Given the description of an element on the screen output the (x, y) to click on. 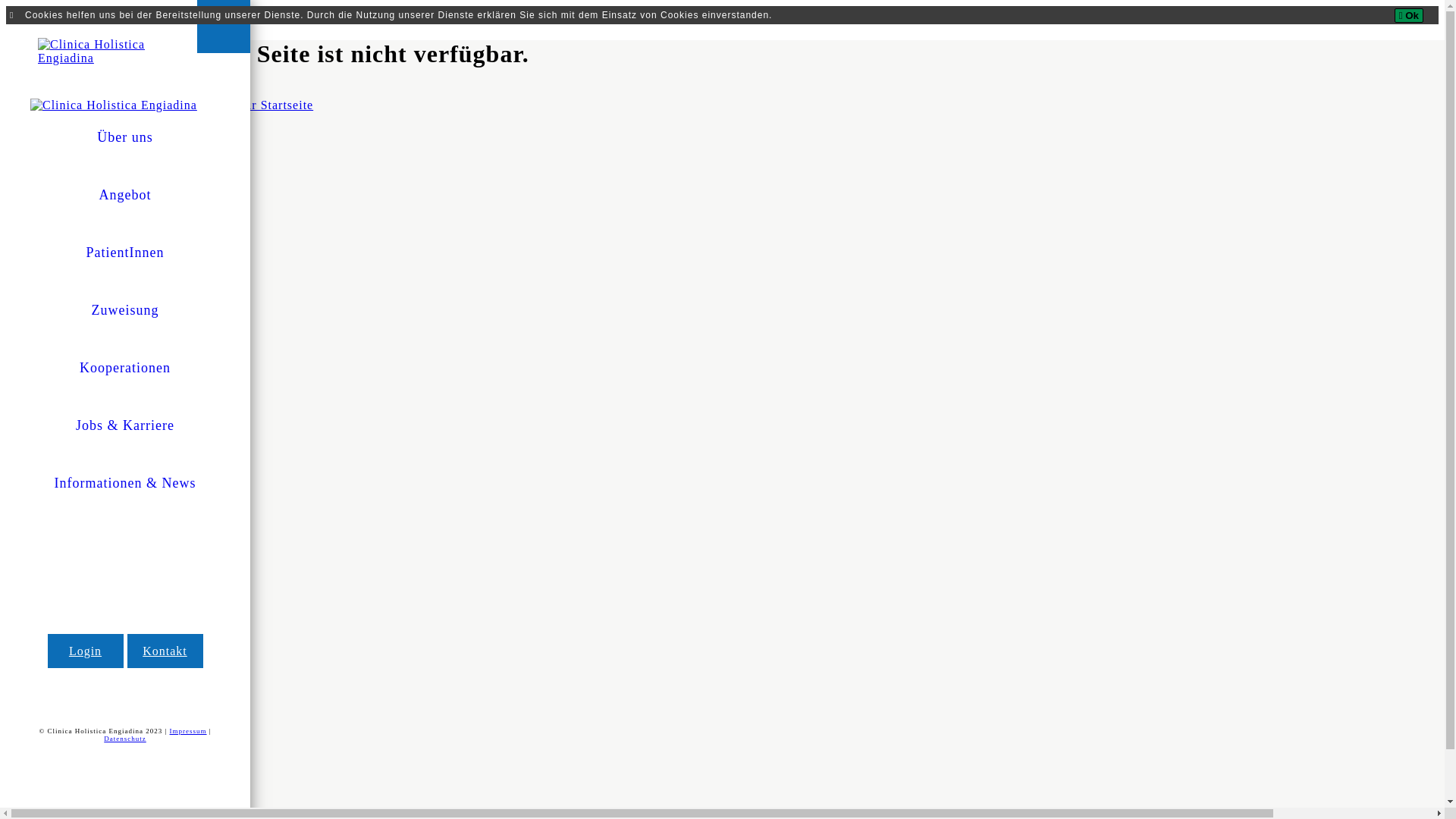
Facts & Figures Element type: text (105, 143)
Nach dem Aufenthalt Element type: text (105, 356)
Zuweisung Element type: text (124, 321)
Gastronomie Element type: text (105, 325)
Angebot Element type: text (124, 206)
Anfahrt Element type: text (105, 341)
PatientInnen Element type: text (124, 263)
Organisation Element type: text (105, 204)
Datenschutz Element type: text (124, 738)
Impressionen Element type: text (105, 174)
Login Element type: text (84, 650)
Kontakt Element type: text (165, 650)
Informationen & News Element type: text (124, 494)
Jobs & Karriere Element type: text (124, 436)
Kooperationen Element type: text (124, 378)
Team Element type: text (105, 234)
Wiss. Beirat Element type: text (105, 265)
Impressum Element type: text (188, 730)
Termine & Veranstaltungen Element type: text (105, 371)
Kontakt Element type: text (94, 468)
